Given the description of an element on the screen output the (x, y) to click on. 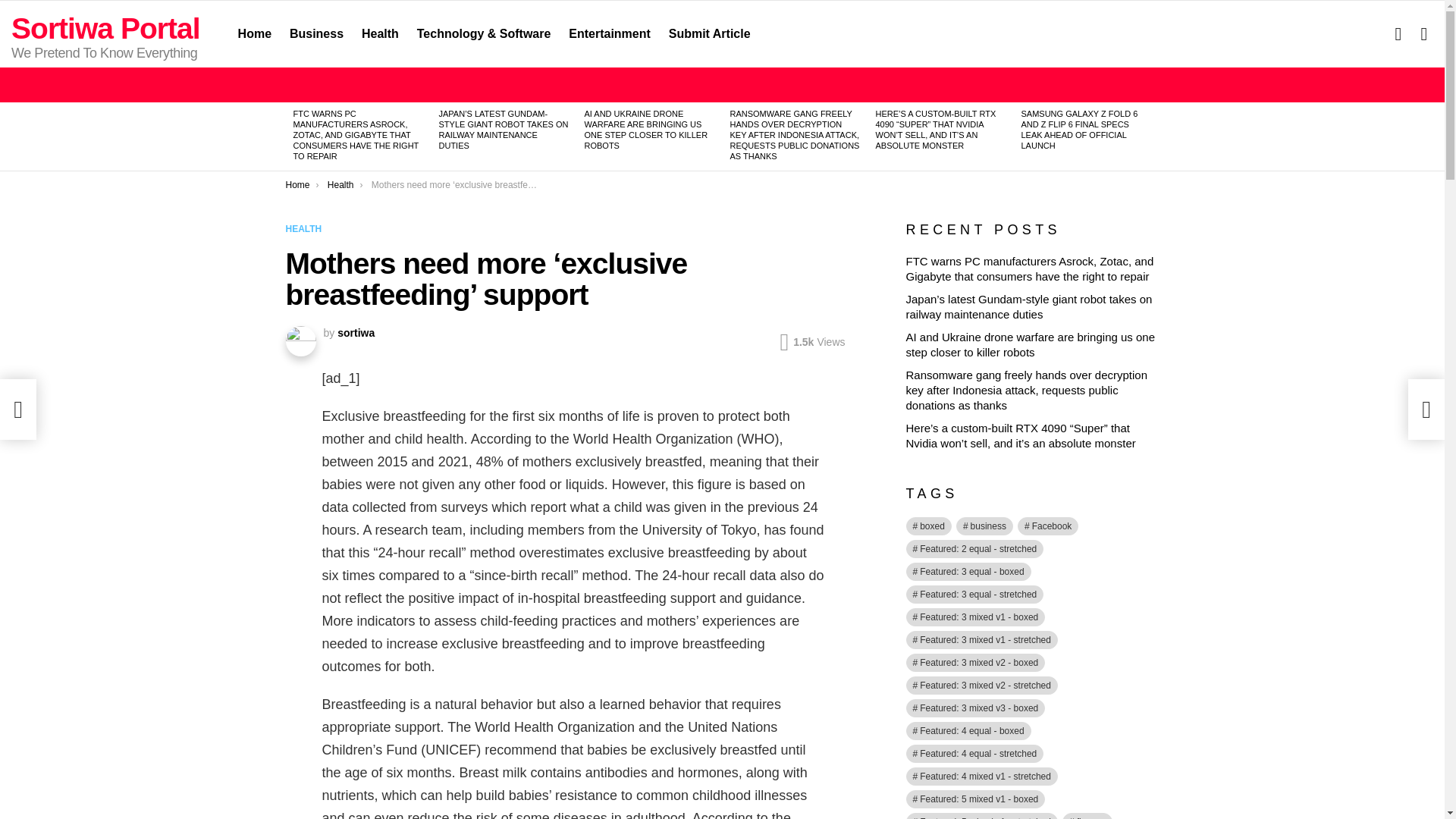
sortiwa (355, 332)
Submit Article (709, 33)
Sortiwa Portal (105, 28)
Business (316, 33)
Home (254, 33)
Posts by sortiwa (355, 332)
